Given the description of an element on the screen output the (x, y) to click on. 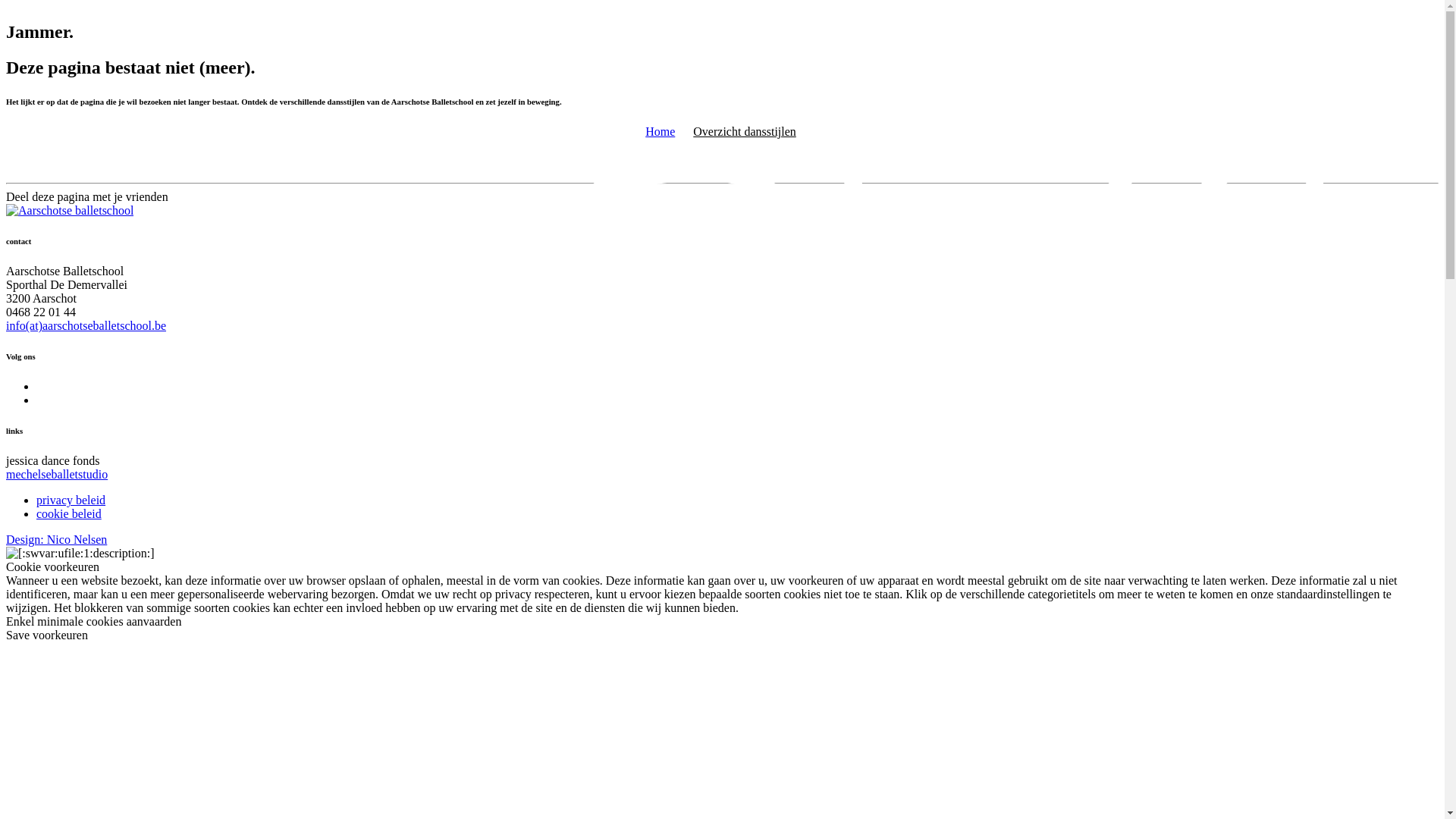
mechelseballetstudio Element type: text (722, 474)
Aarschotse balletschool Element type: hover (69, 210)
privacy beleid Element type: text (70, 499)
Design: Nico Nelsen Element type: text (56, 539)
info(at)aarschotseballetschool.be Element type: text (722, 325)
cookie beleid Element type: text (68, 513)
Home Element type: text (659, 131)
Overzicht dansstijlen Element type: text (744, 131)
